Given the description of an element on the screen output the (x, y) to click on. 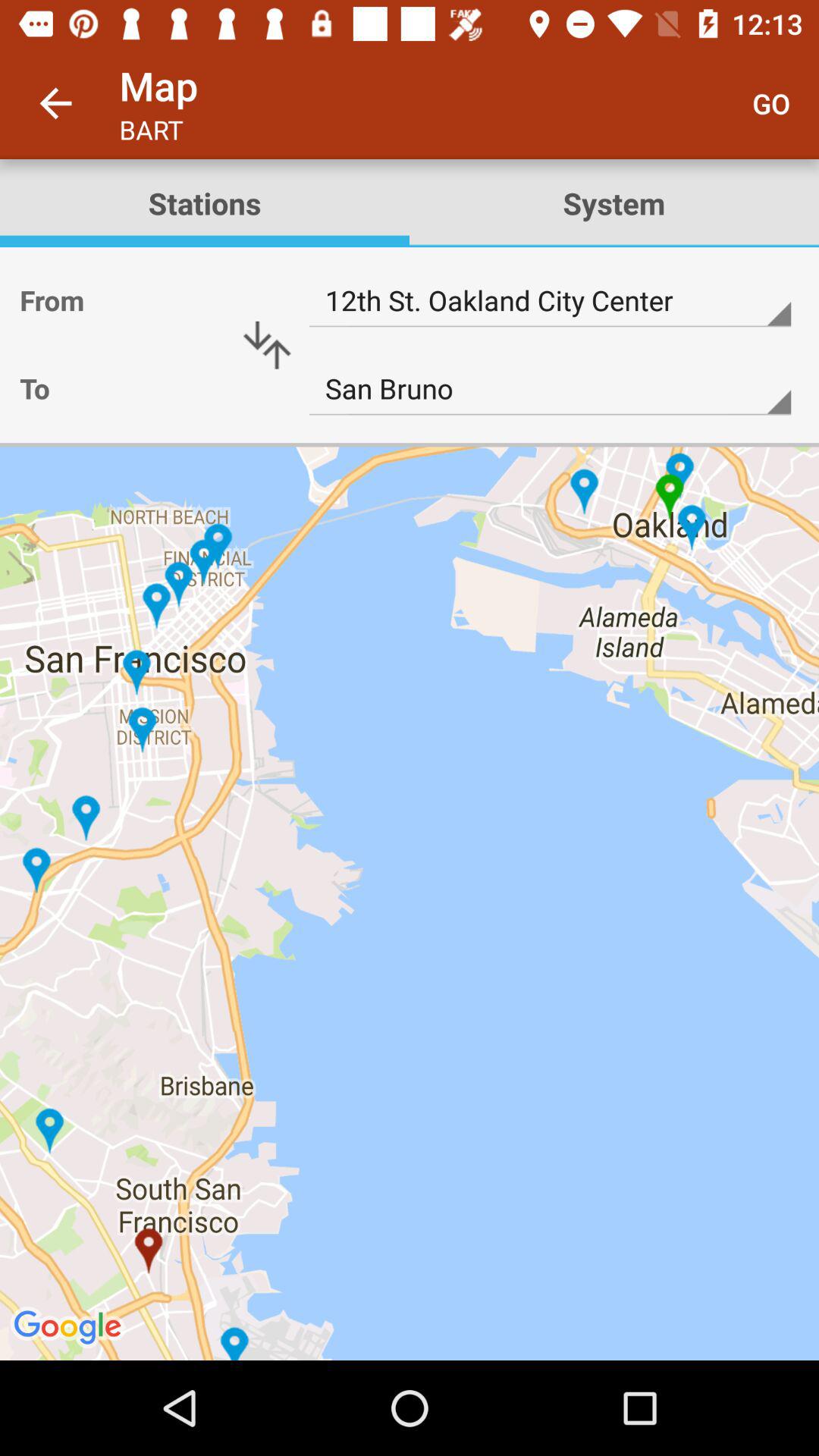
jump until stations item (204, 203)
